Given the description of an element on the screen output the (x, y) to click on. 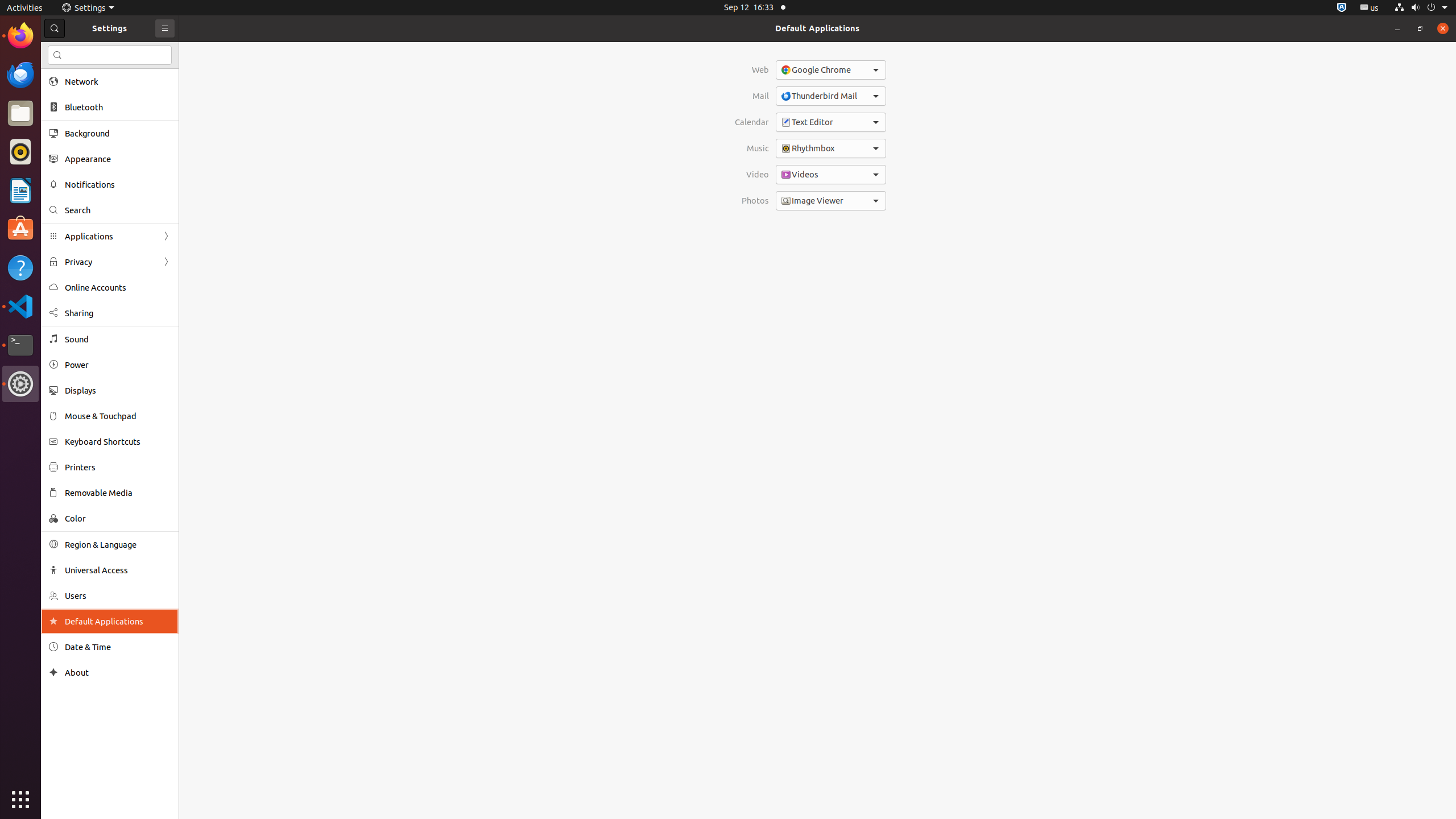
Privacy Element type: label (109, 261)
li.txt Element type: label (146, 50)
Calendar Element type: label (751, 121)
Trash Element type: label (75, 108)
IsaHelpMain.desktop Element type: label (75, 170)
